Given the description of an element on the screen output the (x, y) to click on. 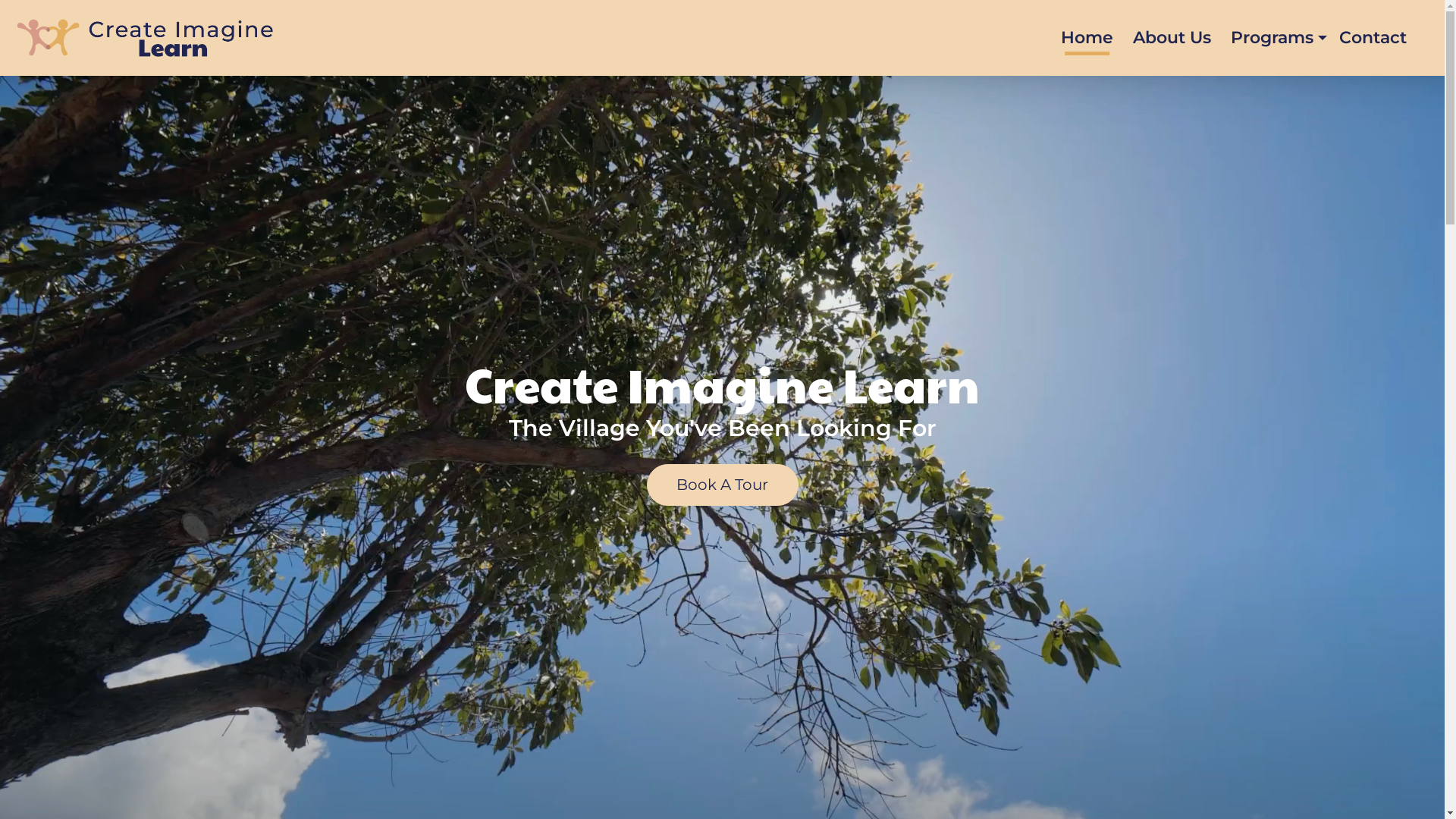
Home Element type: text (1086, 37)
Programs Element type: text (1278, 37)
About Us Element type: text (1171, 37)
Book A Tour Element type: text (721, 484)
Contact Element type: text (1372, 37)
